Given the description of an element on the screen output the (x, y) to click on. 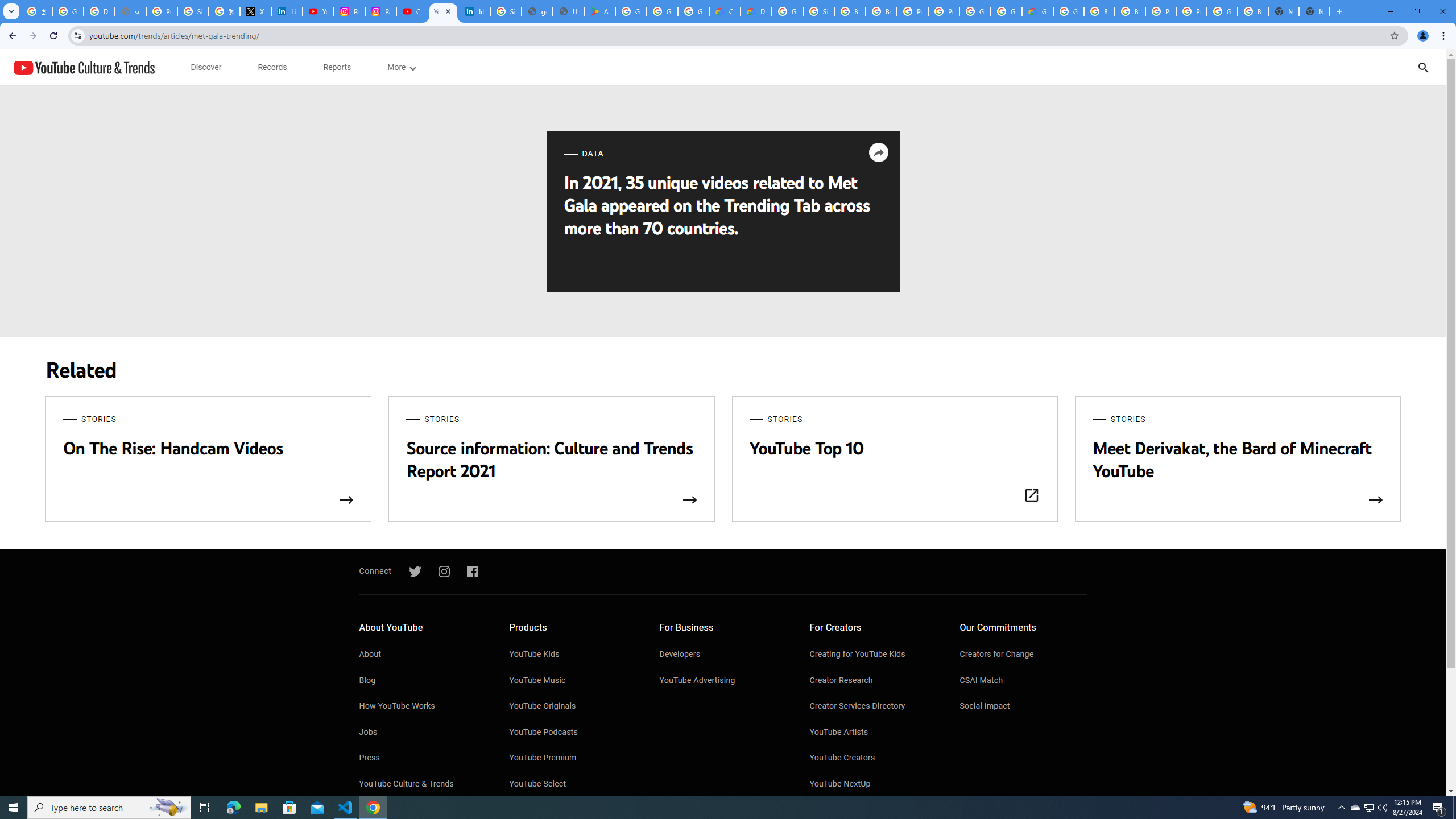
YouTube Creators (873, 758)
Creator Research (873, 681)
Social Impact (1023, 706)
Google Cloud Platform (1068, 11)
Jobs (422, 732)
Google Cloud Platform (787, 11)
support.google.com - Network error (130, 11)
YouTube Select (573, 784)
